Given the description of an element on the screen output the (x, y) to click on. 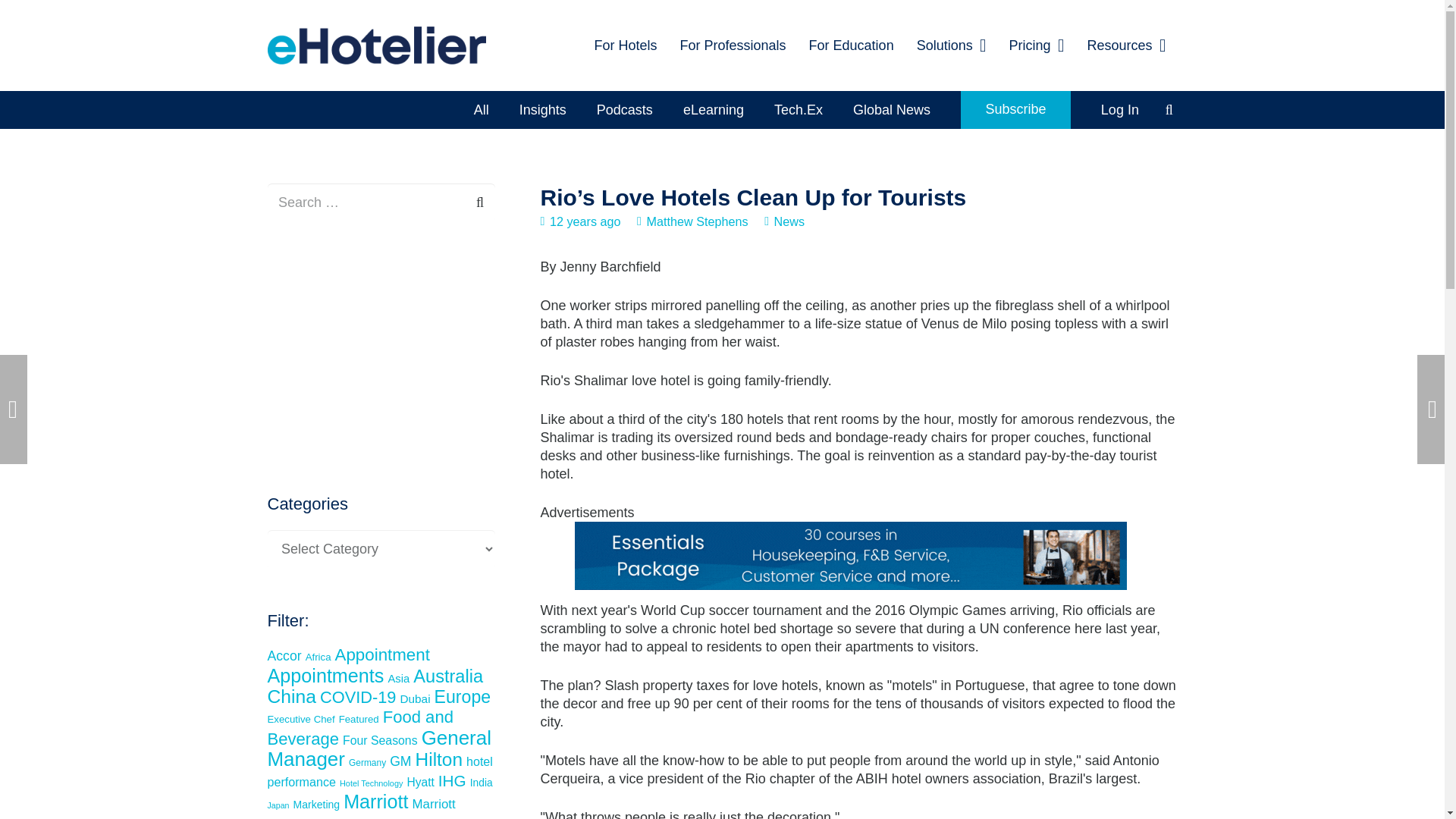
Solutions (951, 45)
Insights (541, 109)
Global News (891, 109)
Tech.Ex (798, 109)
For Education (851, 45)
Matthew Stephens (697, 221)
All (480, 109)
Subscribe (1015, 109)
Podcasts (624, 109)
eLearning (713, 109)
